Given the description of an element on the screen output the (x, y) to click on. 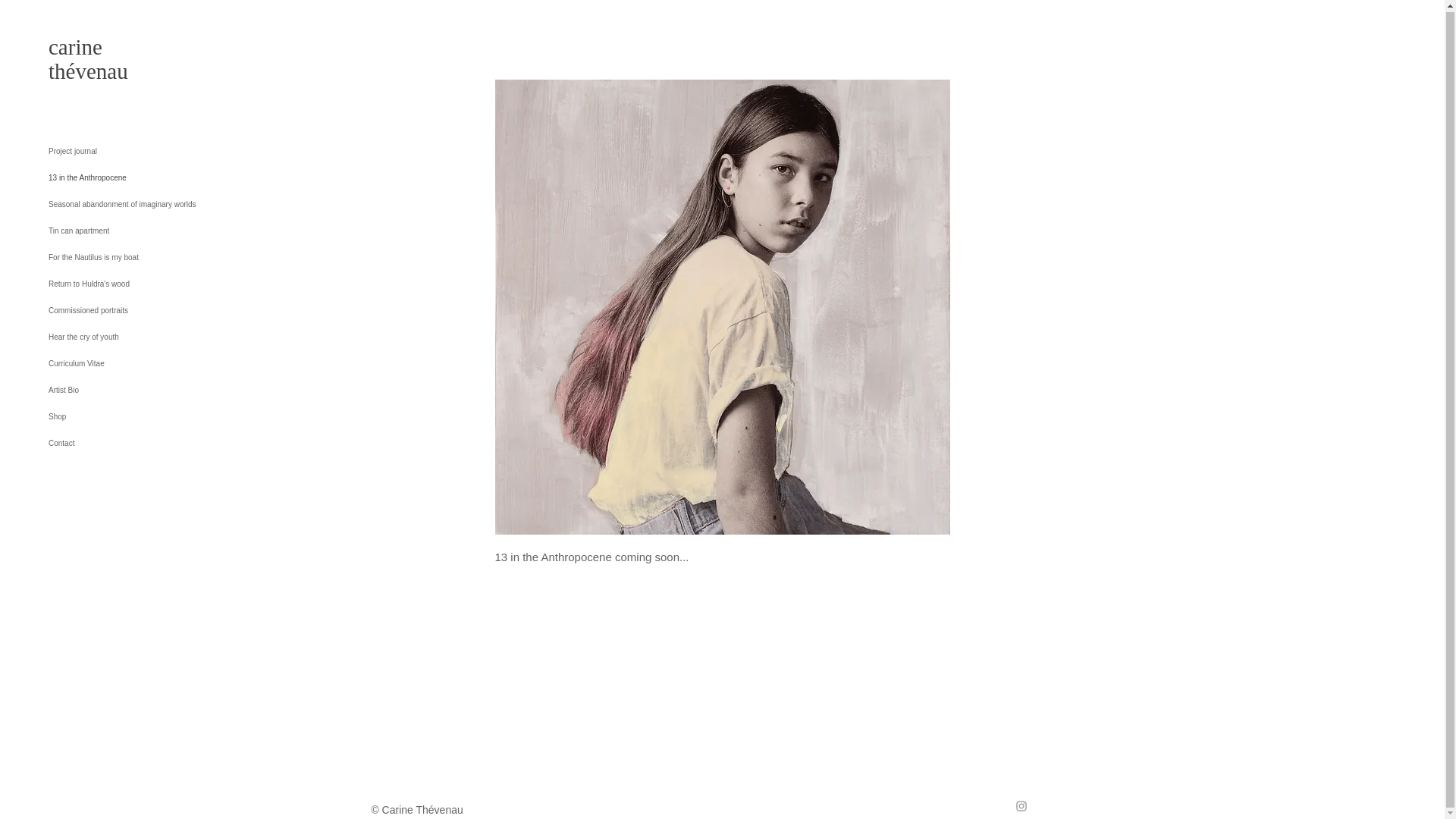
Curriculum Vitae (152, 362)
Shop (152, 415)
Seasonal abandonment of imaginary worlds (152, 203)
Return to Huldra's wood (152, 283)
carine (74, 46)
Hear the cry of youth (152, 335)
Commissioned portraits (152, 309)
For the Nautilus is my boat (152, 256)
Artist Bio (152, 388)
13 in the Anthropocene (152, 176)
